Given the description of an element on the screen output the (x, y) to click on. 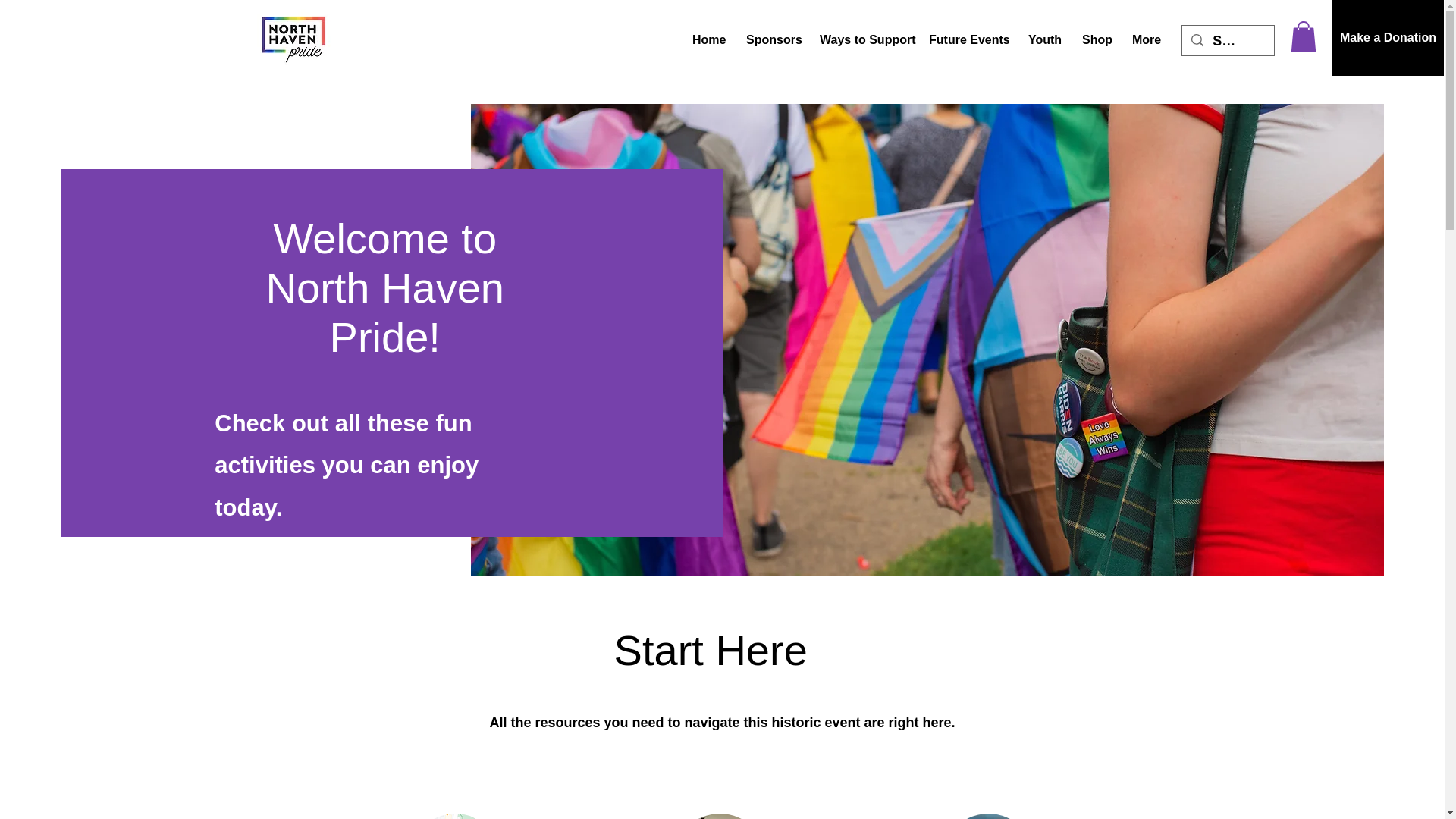
Shop (1095, 39)
Sponsors (771, 39)
Future Events (966, 39)
Make a Donation (1388, 38)
Home (708, 39)
Youth (1043, 39)
Ways to Support (862, 39)
